Given the description of an element on the screen output the (x, y) to click on. 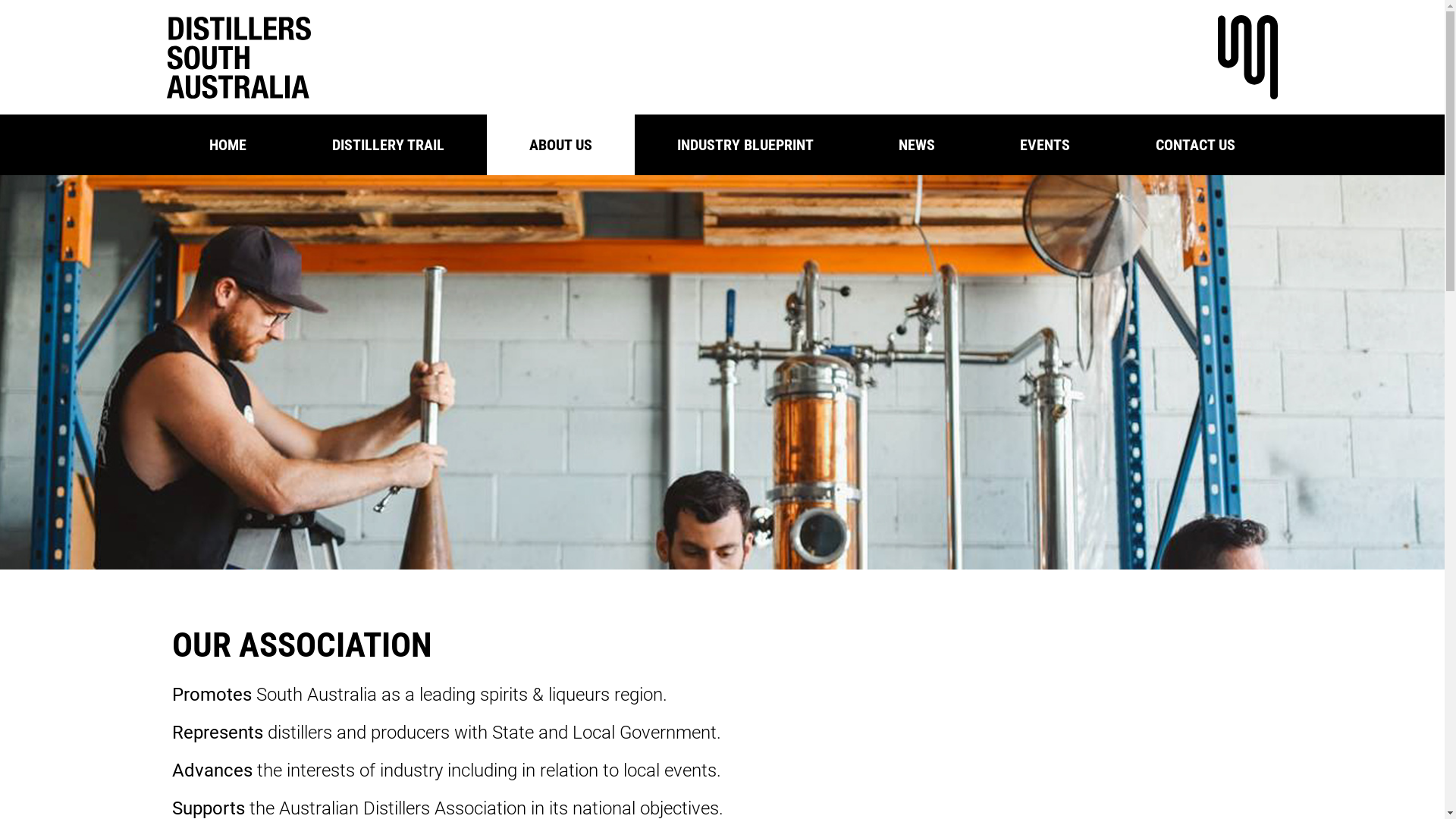
HOME Element type: text (227, 144)
CONTACT US Element type: text (1195, 144)
EVENTS Element type: text (1044, 144)
Distillers SA Logo Mark Element type: hover (1247, 57)
Distillers SA Logotype Element type: hover (238, 57)
ABOUT US Element type: text (560, 144)
DISTILLERY TRAIL Element type: text (387, 144)
NEWS Element type: text (916, 144)
INDUSTRY BLUEPRINT Element type: text (745, 144)
